Given the description of an element on the screen output the (x, y) to click on. 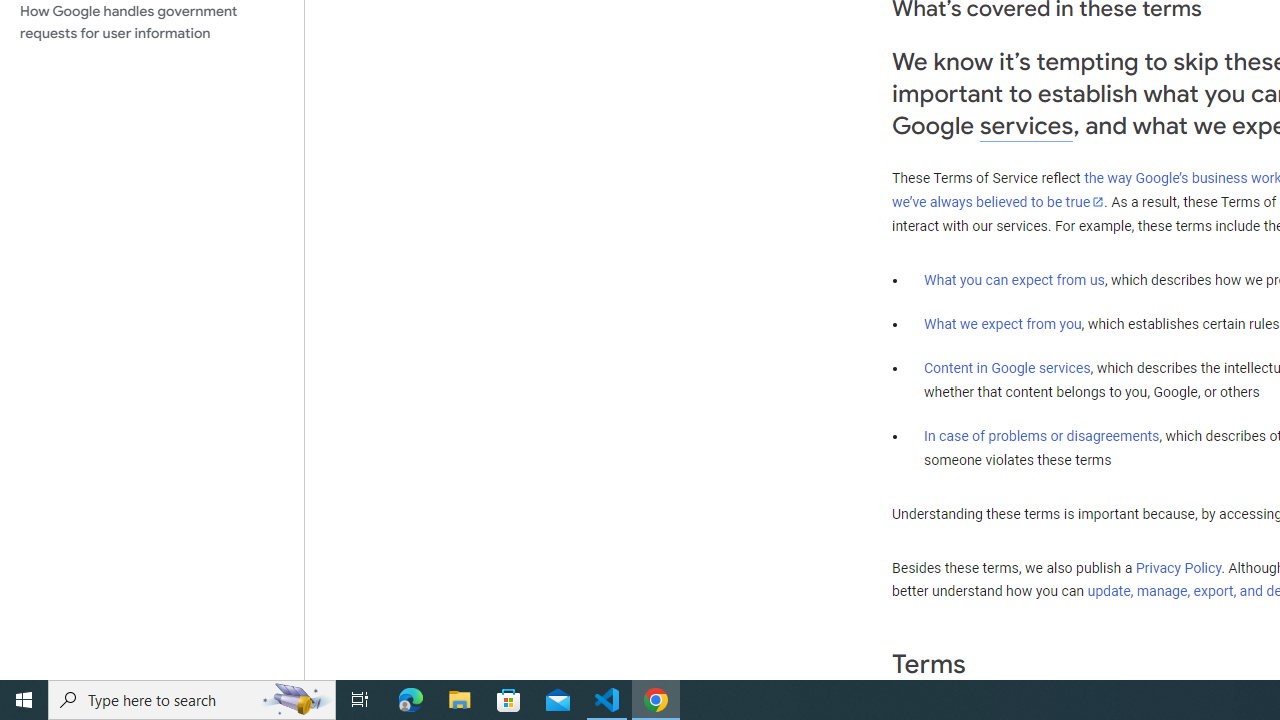
In case of problems or disagreements (1041, 435)
Content in Google services (1007, 368)
services (1026, 125)
What we expect from you (1002, 323)
What you can expect from us (1014, 279)
